Given the description of an element on the screen output the (x, y) to click on. 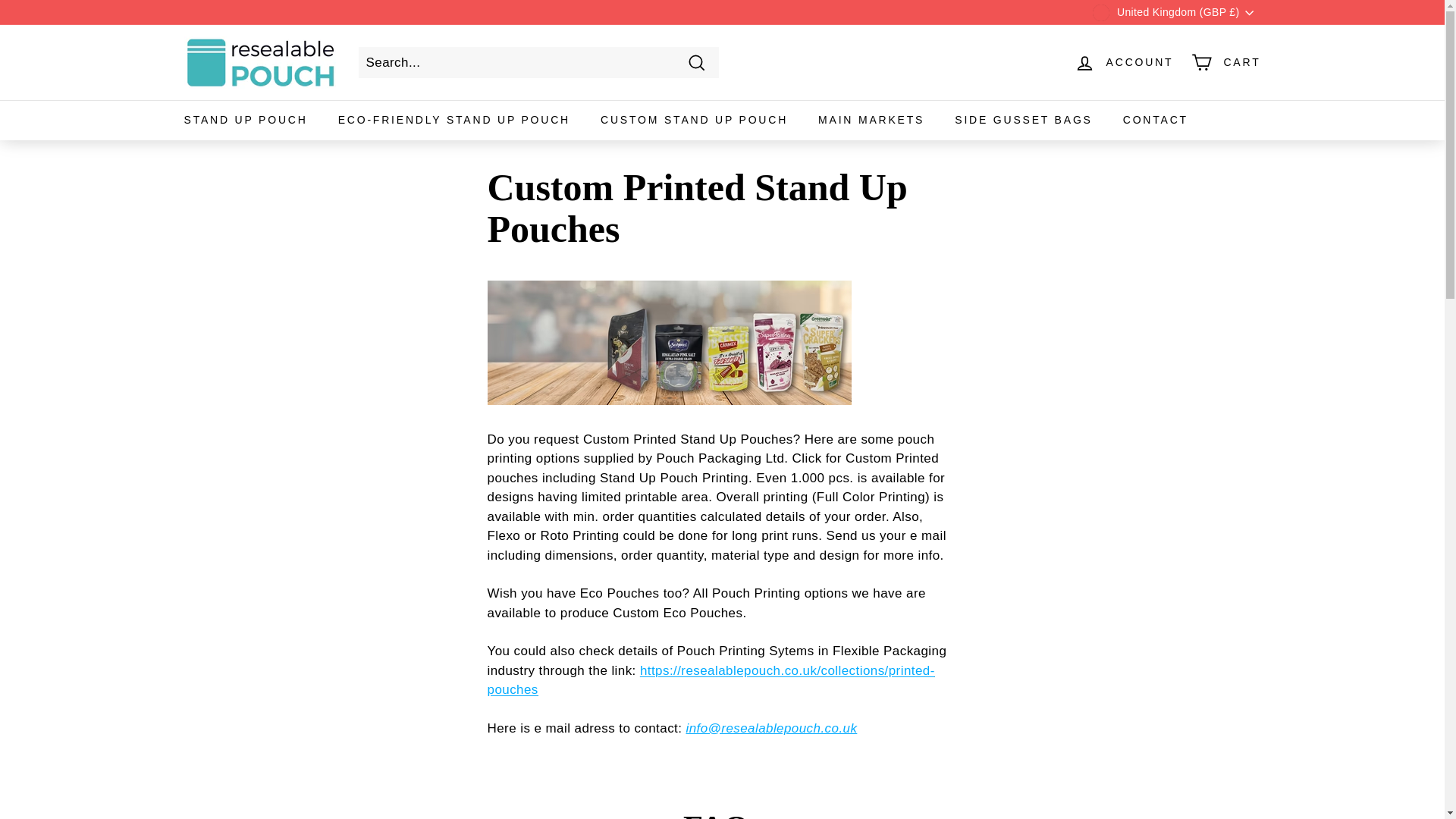
ACCOUNT (1123, 62)
Printed Pouches Produced by Pouch Packaging Ltd (710, 679)
